Given the description of an element on the screen output the (x, y) to click on. 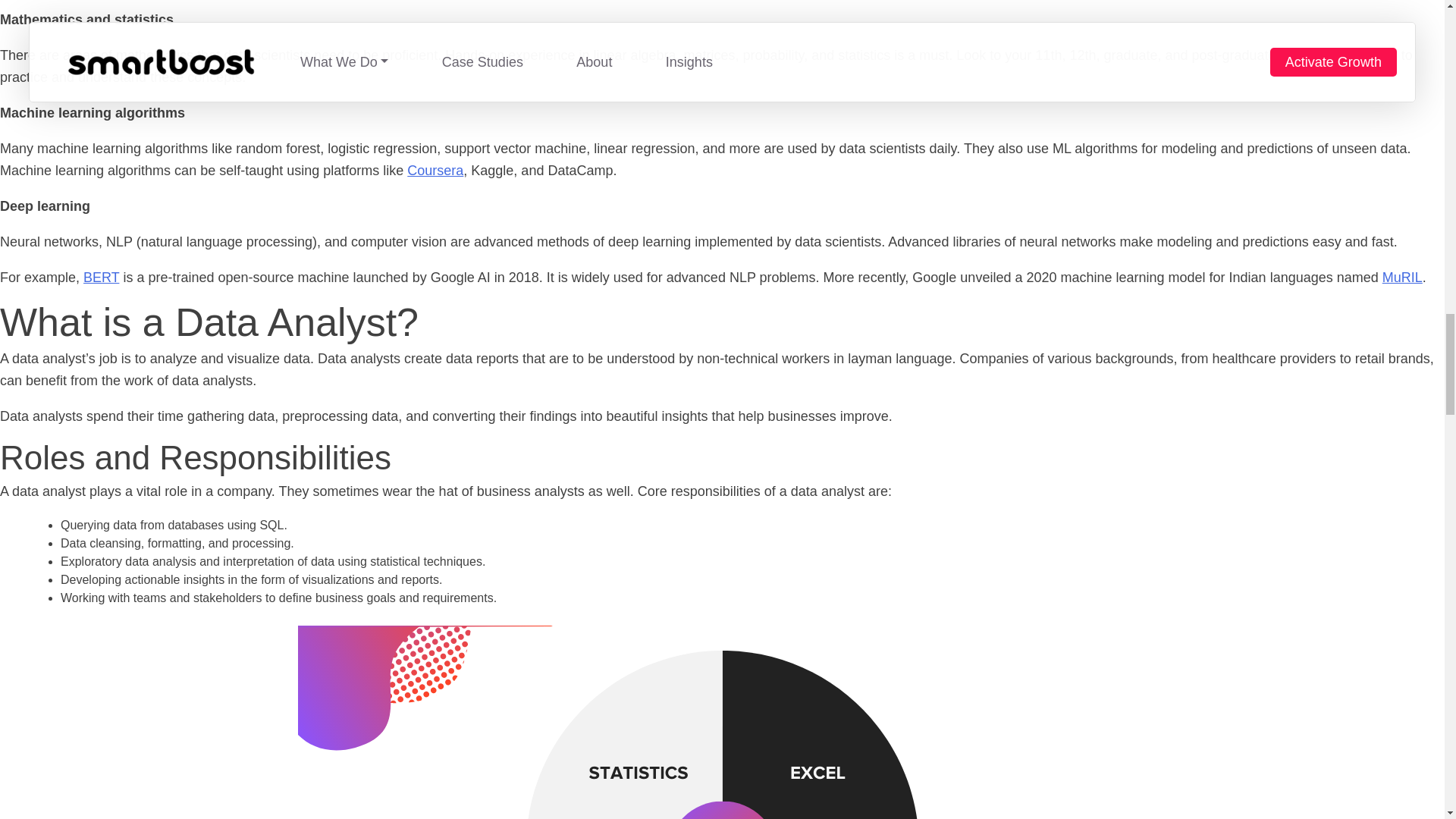
MuRIL (1401, 277)
Coursera (435, 170)
BERT (100, 277)
